Given the description of an element on the screen output the (x, y) to click on. 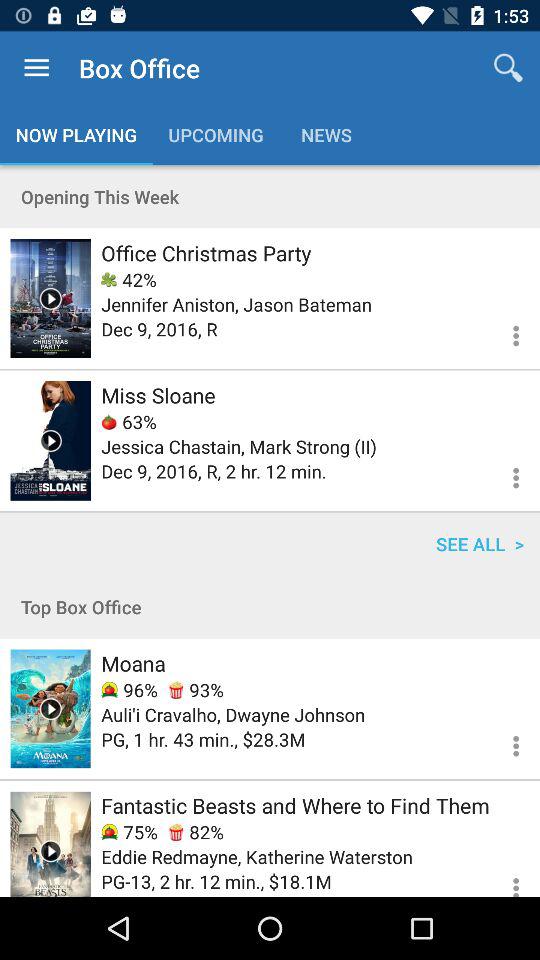
options (503, 878)
